Given the description of an element on the screen output the (x, y) to click on. 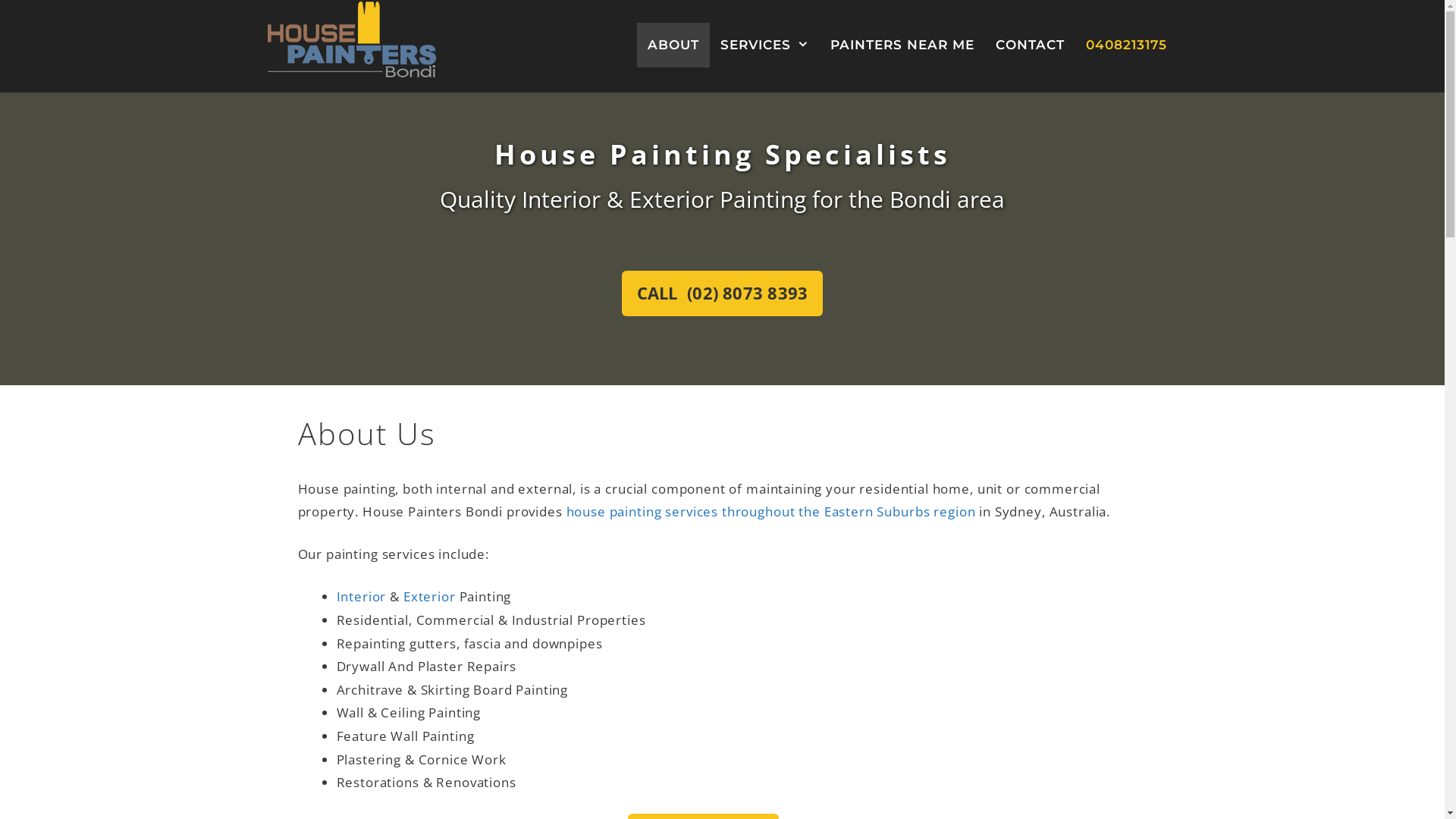
Interior Element type: text (361, 596)
SERVICES Element type: text (764, 44)
CONTACT Element type: text (1029, 44)
House Painters Bondi Element type: hover (350, 38)
CALL  (02) 8073 8393 Element type: text (721, 293)
House Painters Bondi Element type: hover (350, 39)
PAINTERS NEAR ME Element type: text (901, 44)
ABOUT Element type: text (673, 44)
0408213175 Element type: text (1126, 44)
Exterior Element type: text (429, 596)
